Given the description of an element on the screen output the (x, y) to click on. 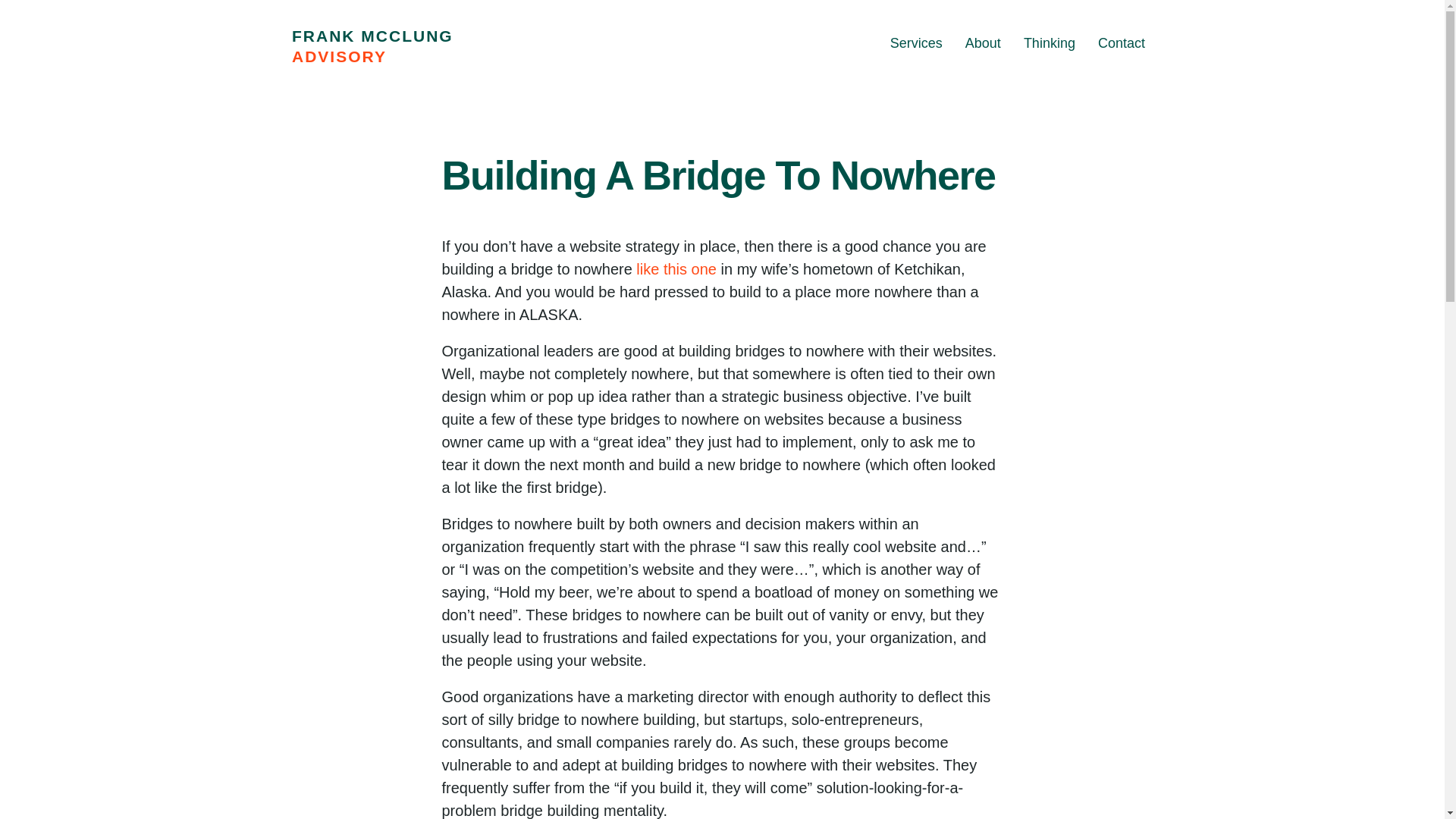
like this one (676, 269)
Thinking (1048, 42)
Contact (1121, 42)
Services (916, 42)
About (982, 42)
